Given the description of an element on the screen output the (x, y) to click on. 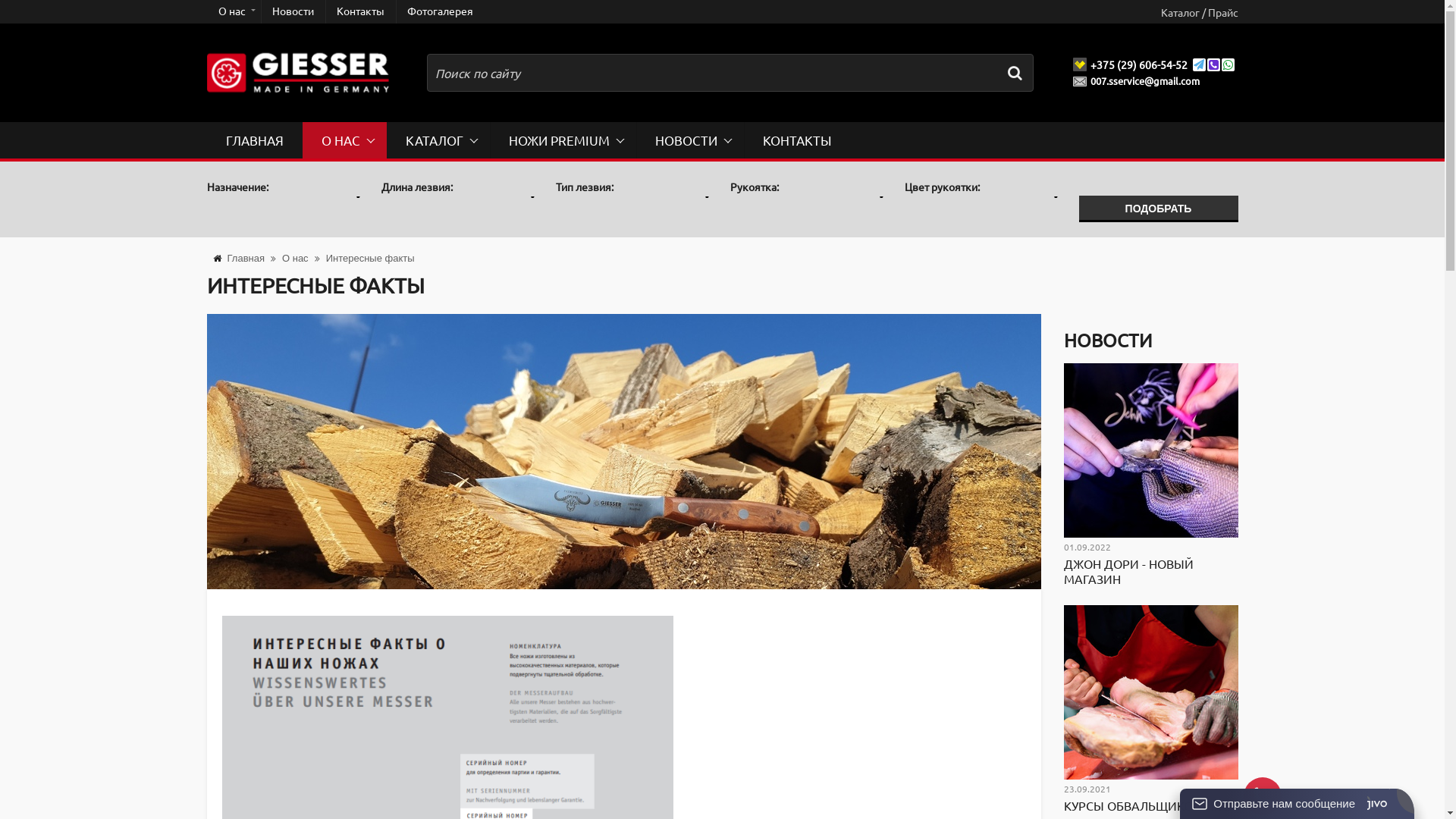
+375 (29) 606-54-52 Element type: text (1140, 64)
007.sservice@gmail.com Element type: text (1146, 80)
